Given the description of an element on the screen output the (x, y) to click on. 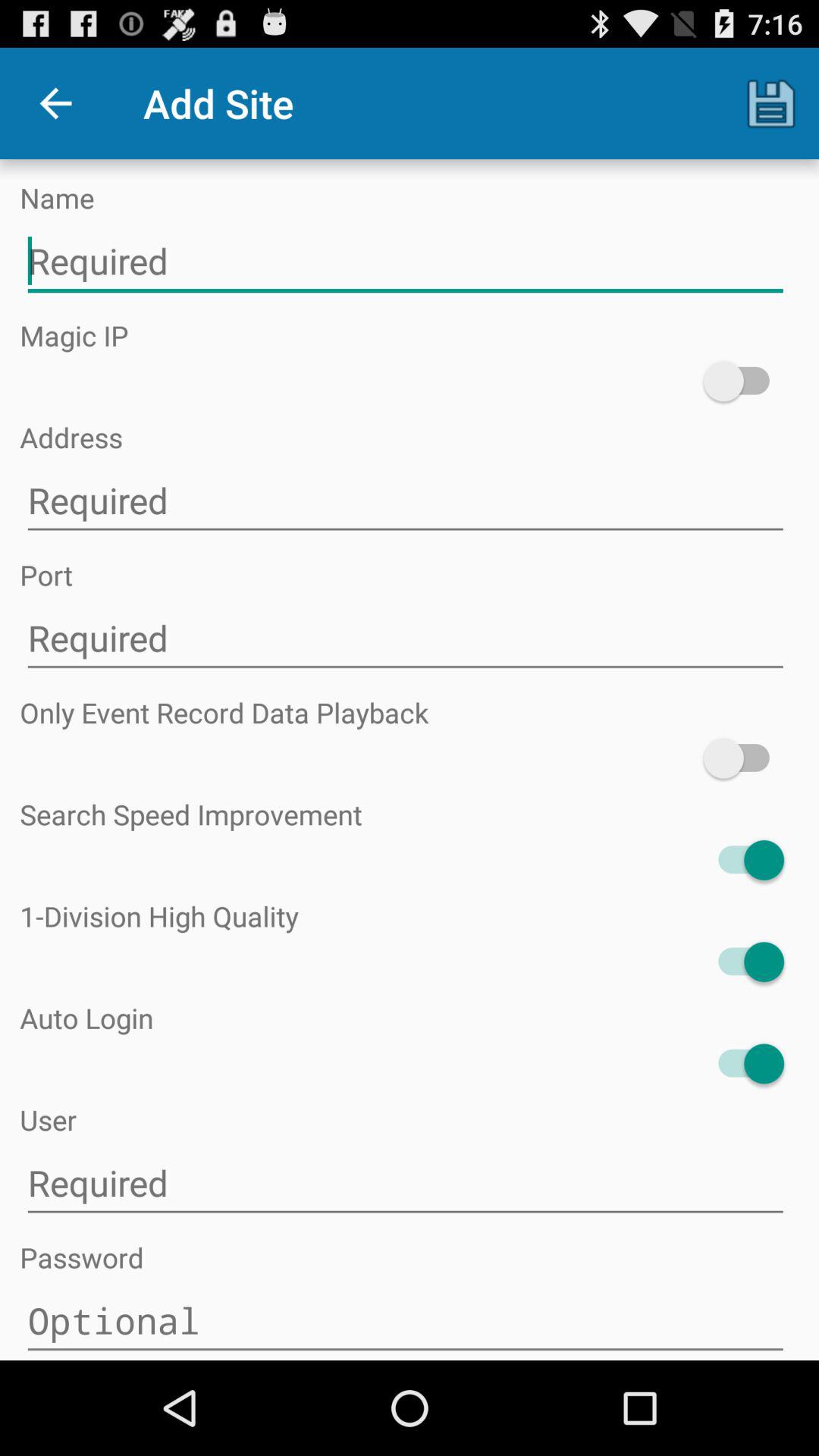
toggle search speed improvement (743, 860)
